Given the description of an element on the screen output the (x, y) to click on. 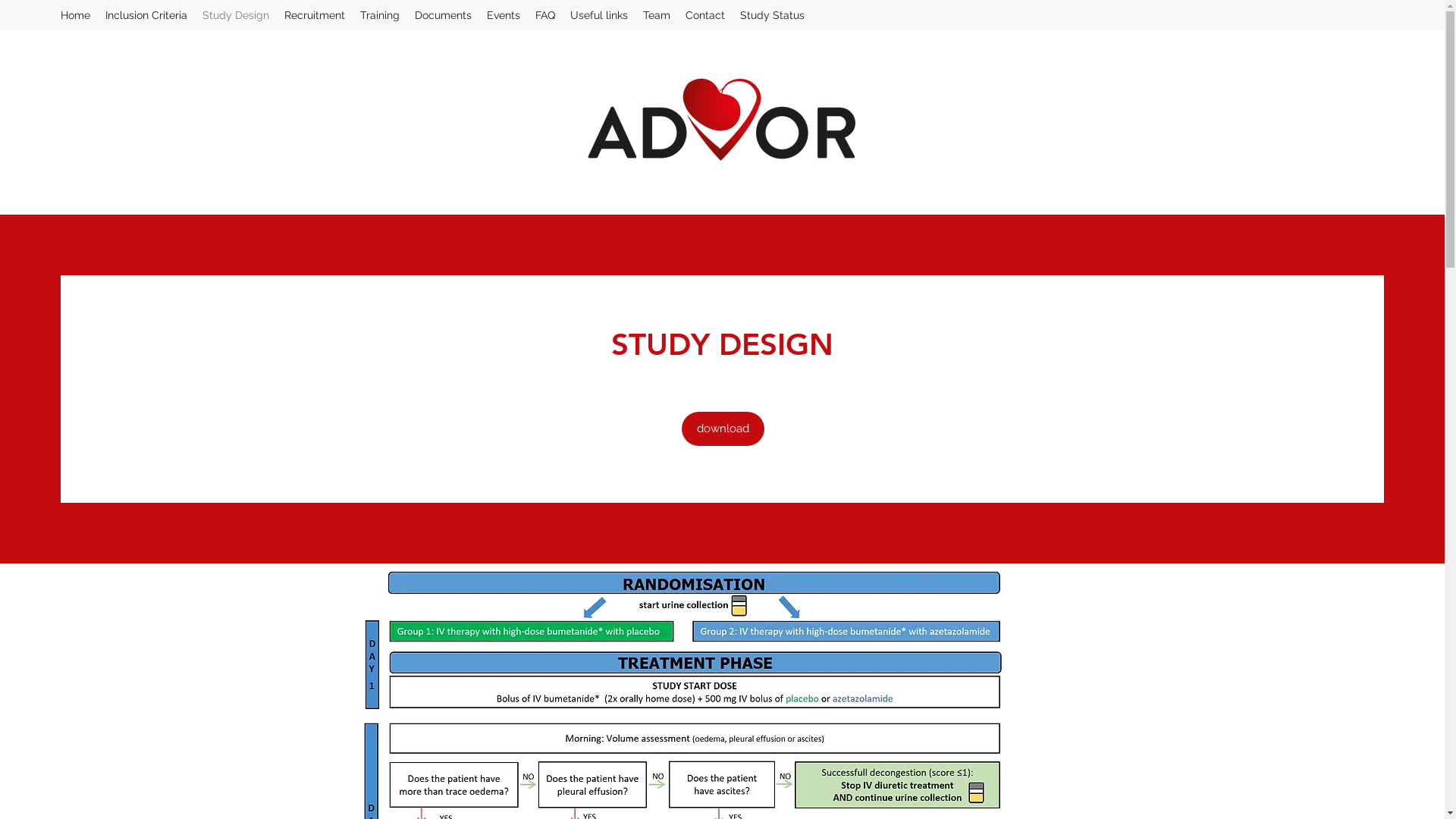
Documents Element type: text (443, 14)
Recruitment Element type: text (314, 14)
download Element type: text (721, 428)
Contact Element type: text (704, 14)
Study Design Element type: text (235, 14)
Useful links Element type: text (598, 14)
Home Element type: text (75, 14)
Team Element type: text (656, 14)
Study Status Element type: text (772, 14)
FAQ Element type: text (544, 14)
Inclusion Criteria Element type: text (145, 14)
Events Element type: text (503, 14)
Training Element type: text (379, 14)
